Given the description of an element on the screen output the (x, y) to click on. 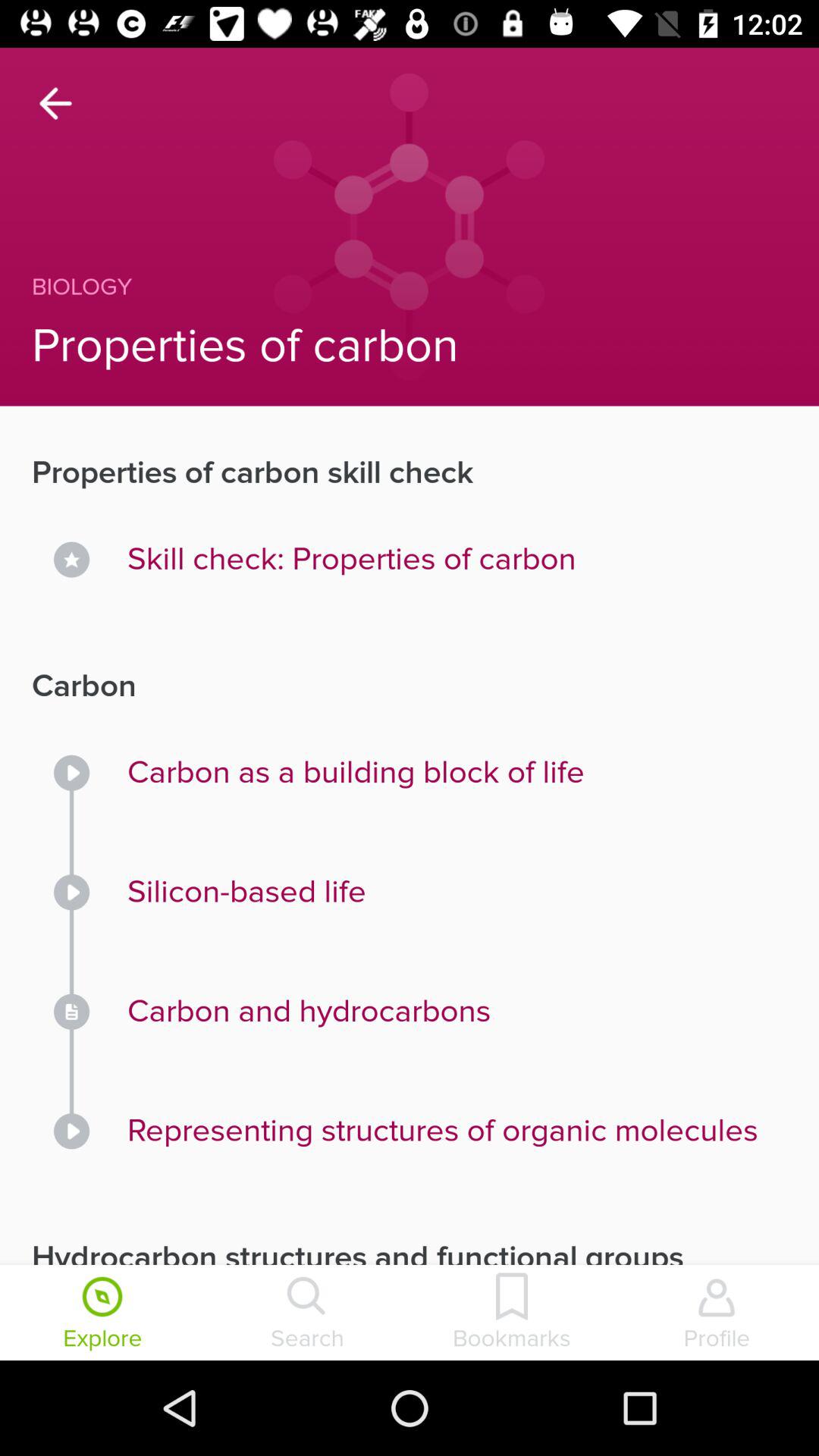
turn off the item below hydrocarbon structures and item (102, 1314)
